Given the description of an element on the screen output the (x, y) to click on. 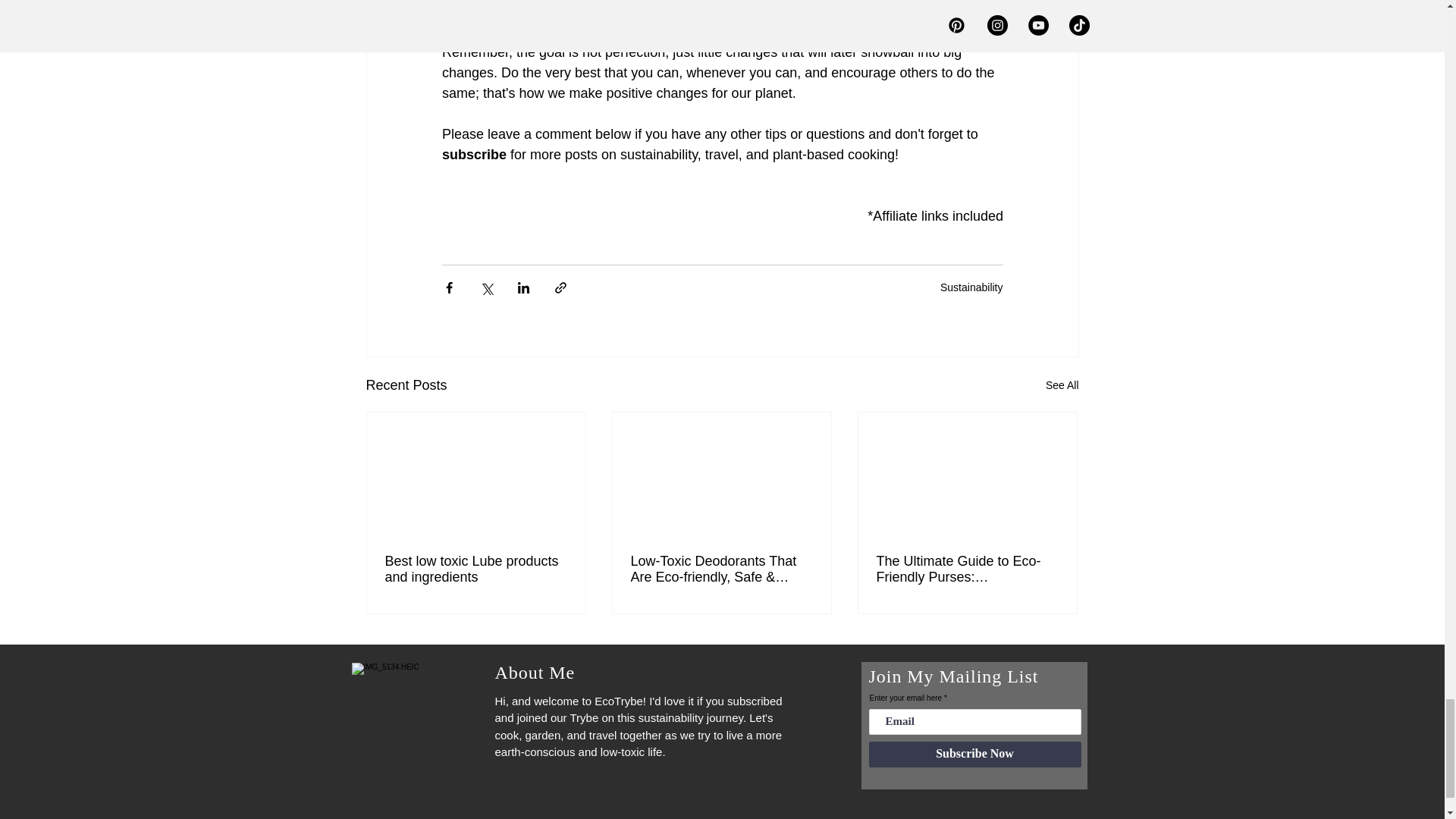
See All (1061, 385)
Sustainability (971, 287)
Best low toxic Lube products and ingredients (476, 569)
